Given the description of an element on the screen output the (x, y) to click on. 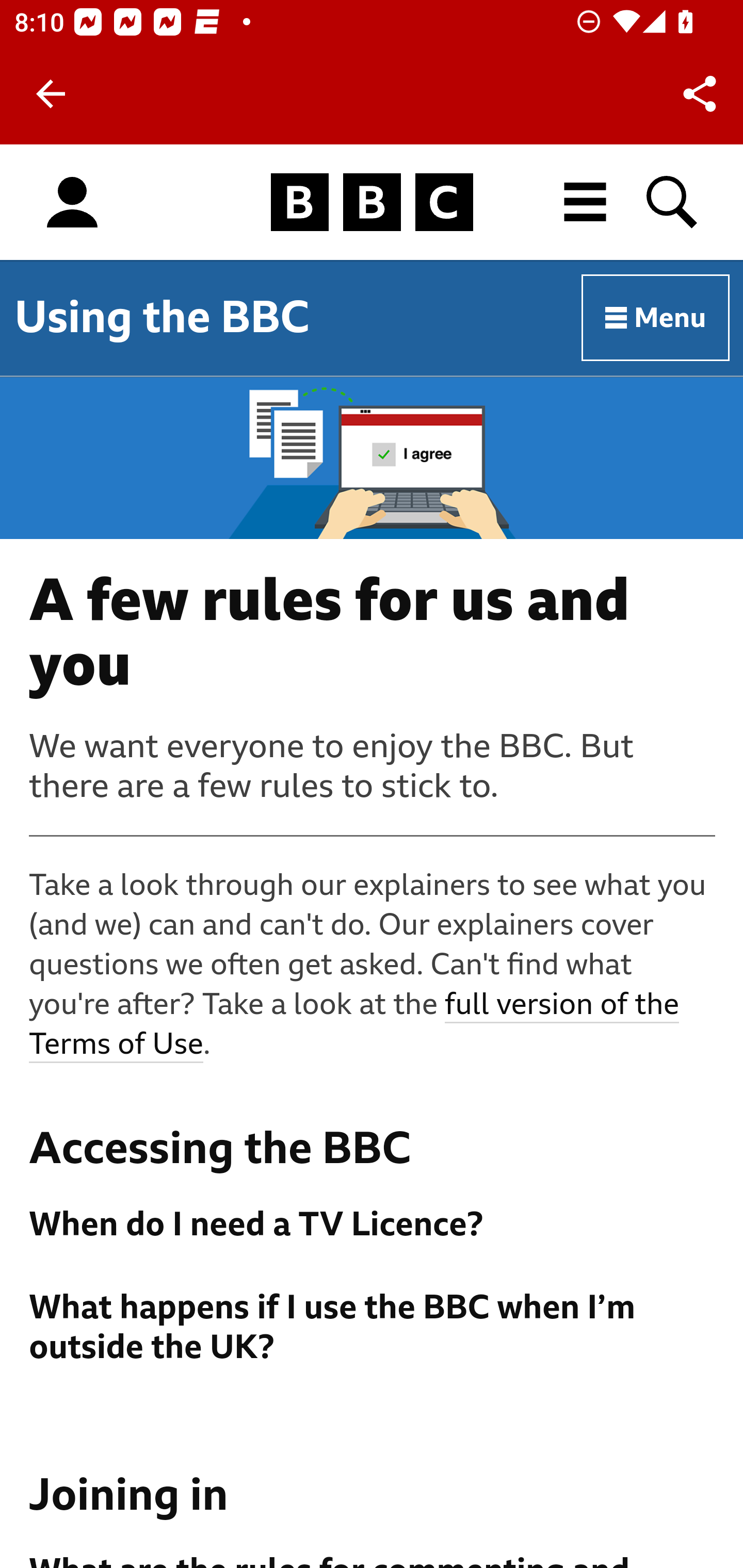
Back (50, 93)
Share (699, 93)
All BBC destinations menu (585, 202)
Search BBC (672, 202)
Sign in (71, 203)
Homepage (371, 203)
Menu (656, 318)
Using the BBC (162, 317)
full version of the Terms of Use (354, 1025)
When do I need a TV Licence? (372, 1224)
